Given the description of an element on the screen output the (x, y) to click on. 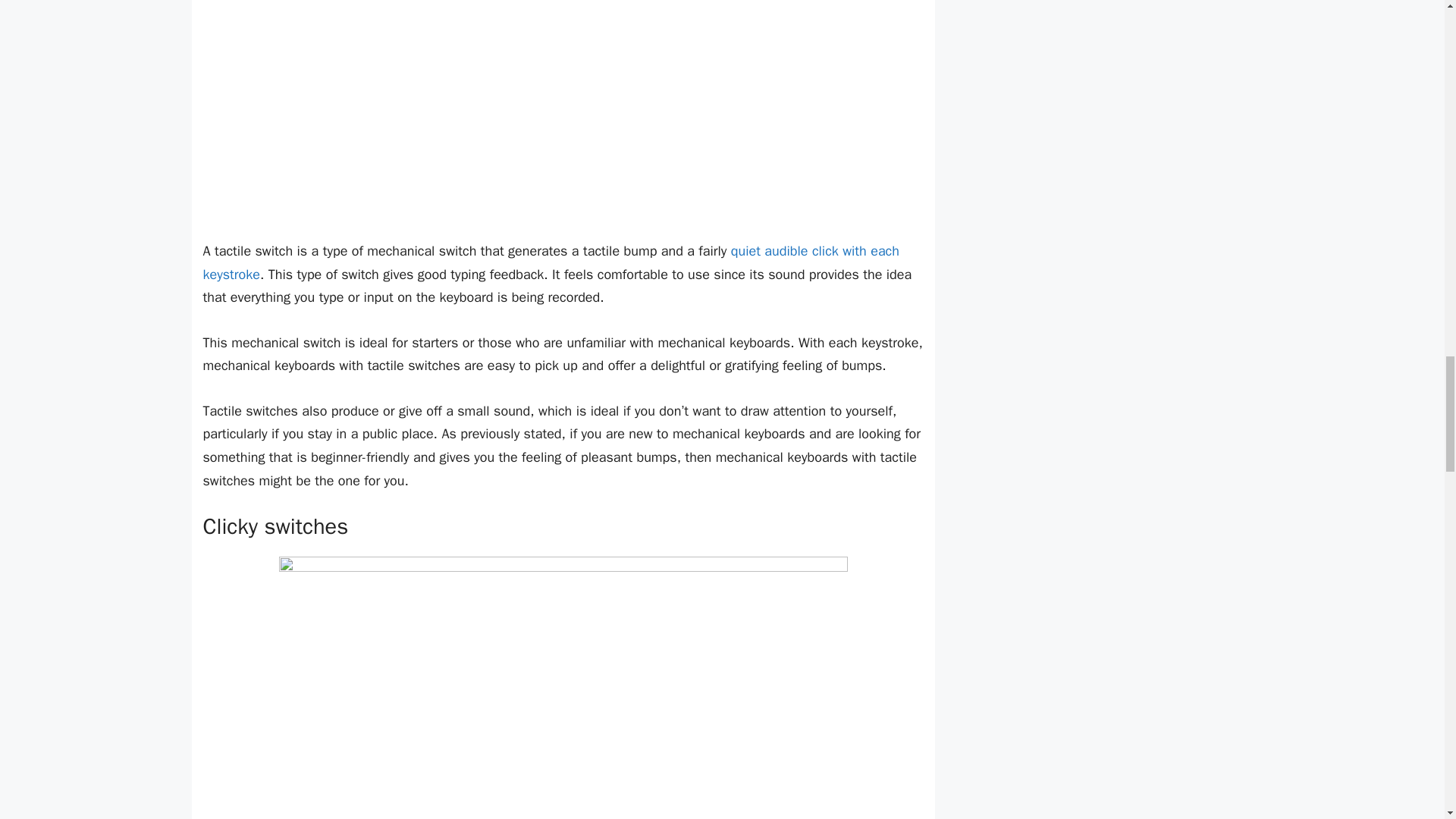
quiet audible click with each keystroke (551, 262)
